Given the description of an element on the screen output the (x, y) to click on. 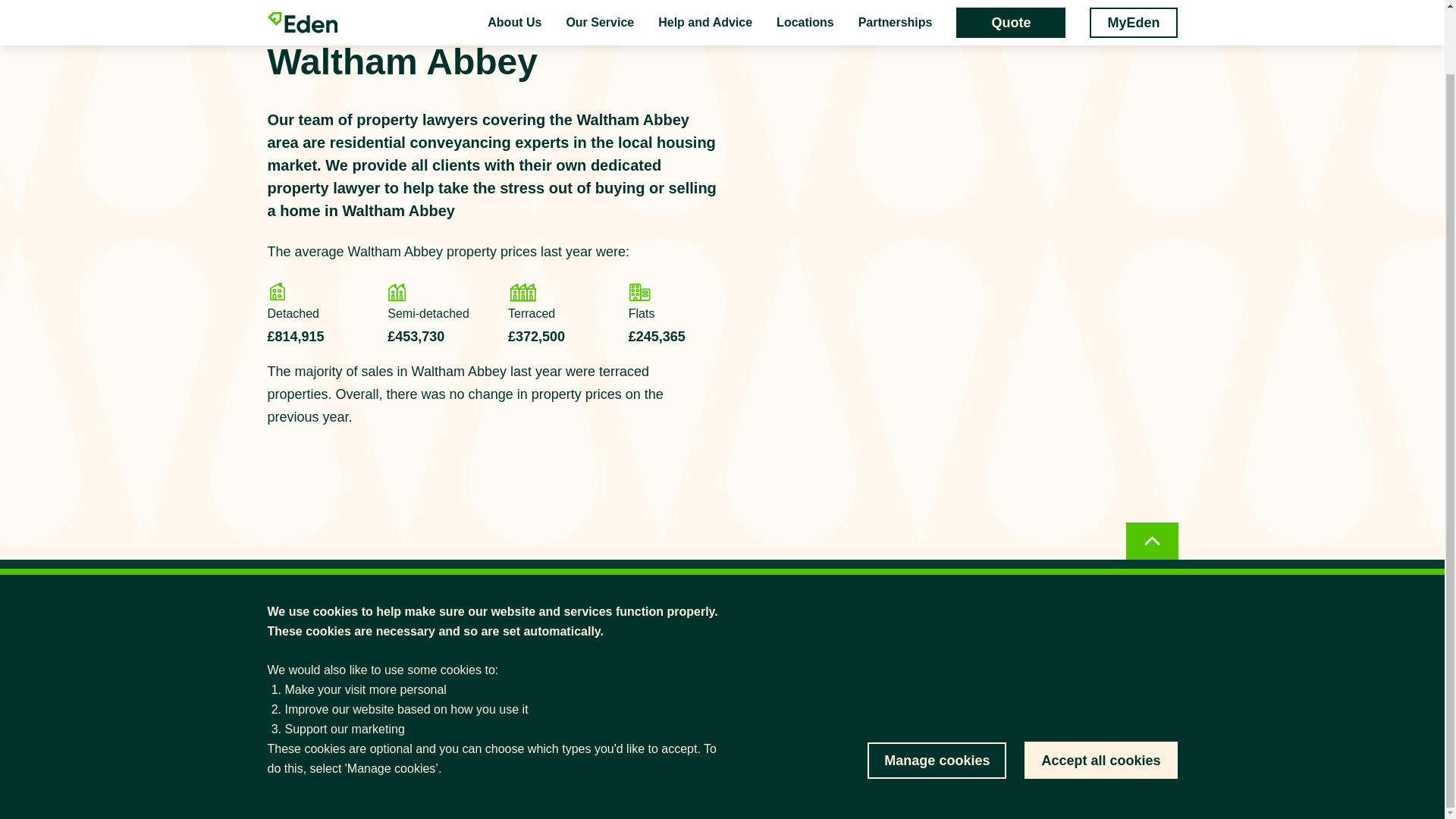
Unit 7.19, Paintworks, Bath Road, Bristol, BS4 3EA (838, 699)
Return to the top of the current page (1151, 483)
Terms of engagement (994, 780)
Return to the top of the current page (1151, 483)
Return to home (304, 598)
Cookies (1160, 780)
Greater London (382, 9)
0300 180 0345 (838, 664)
Manage cookies (936, 689)
Locations (295, 9)
